Given the description of an element on the screen output the (x, y) to click on. 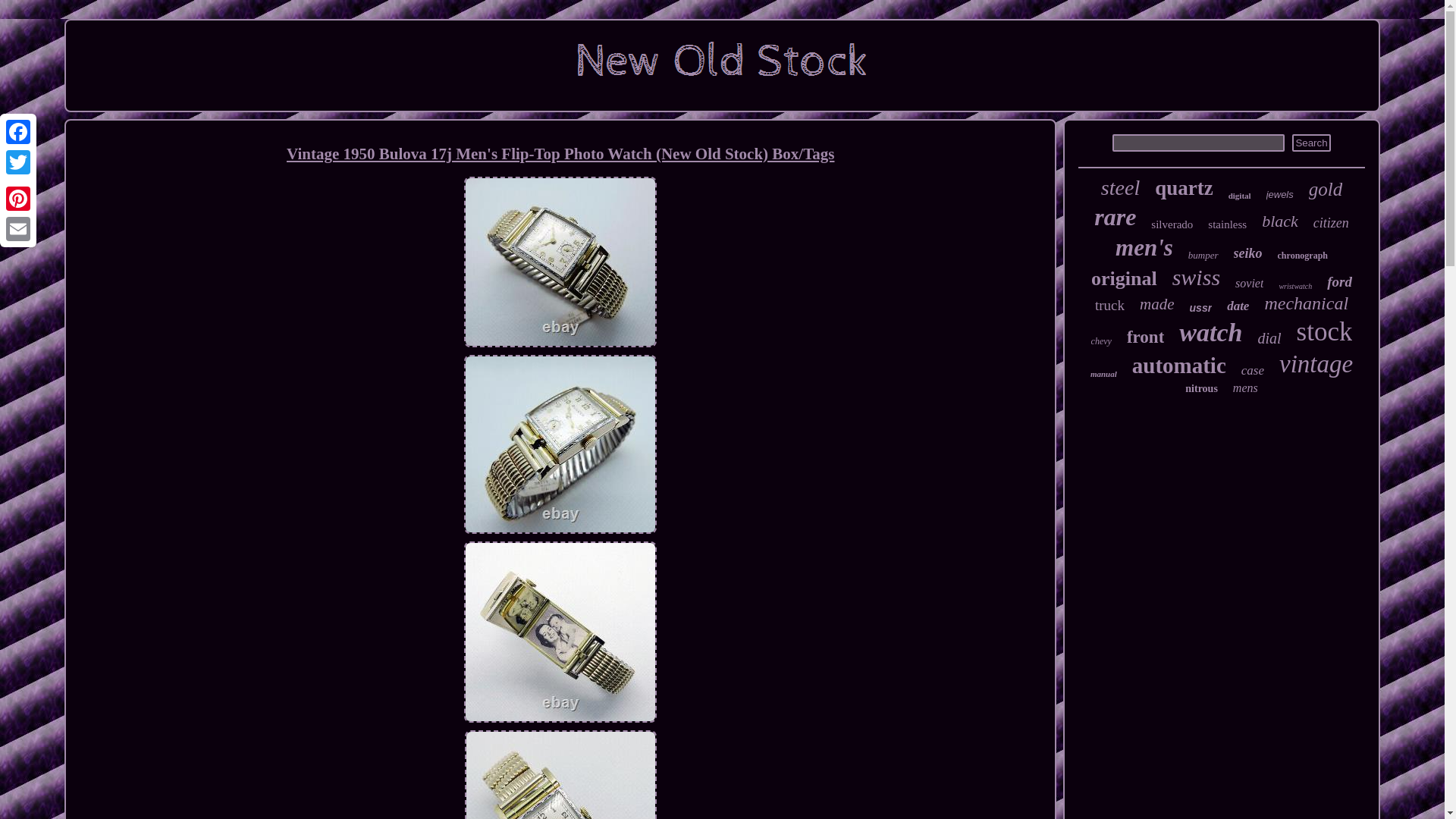
Email (17, 228)
black (1280, 220)
Facebook (17, 132)
silverado (1171, 224)
seiko (1247, 253)
digital (1239, 194)
stainless (1227, 224)
Pinterest (17, 198)
quartz (1183, 187)
gold (1325, 189)
citizen (1331, 222)
rare (1114, 216)
Search (1311, 142)
Twitter (17, 162)
bumper (1203, 255)
